Given the description of an element on the screen output the (x, y) to click on. 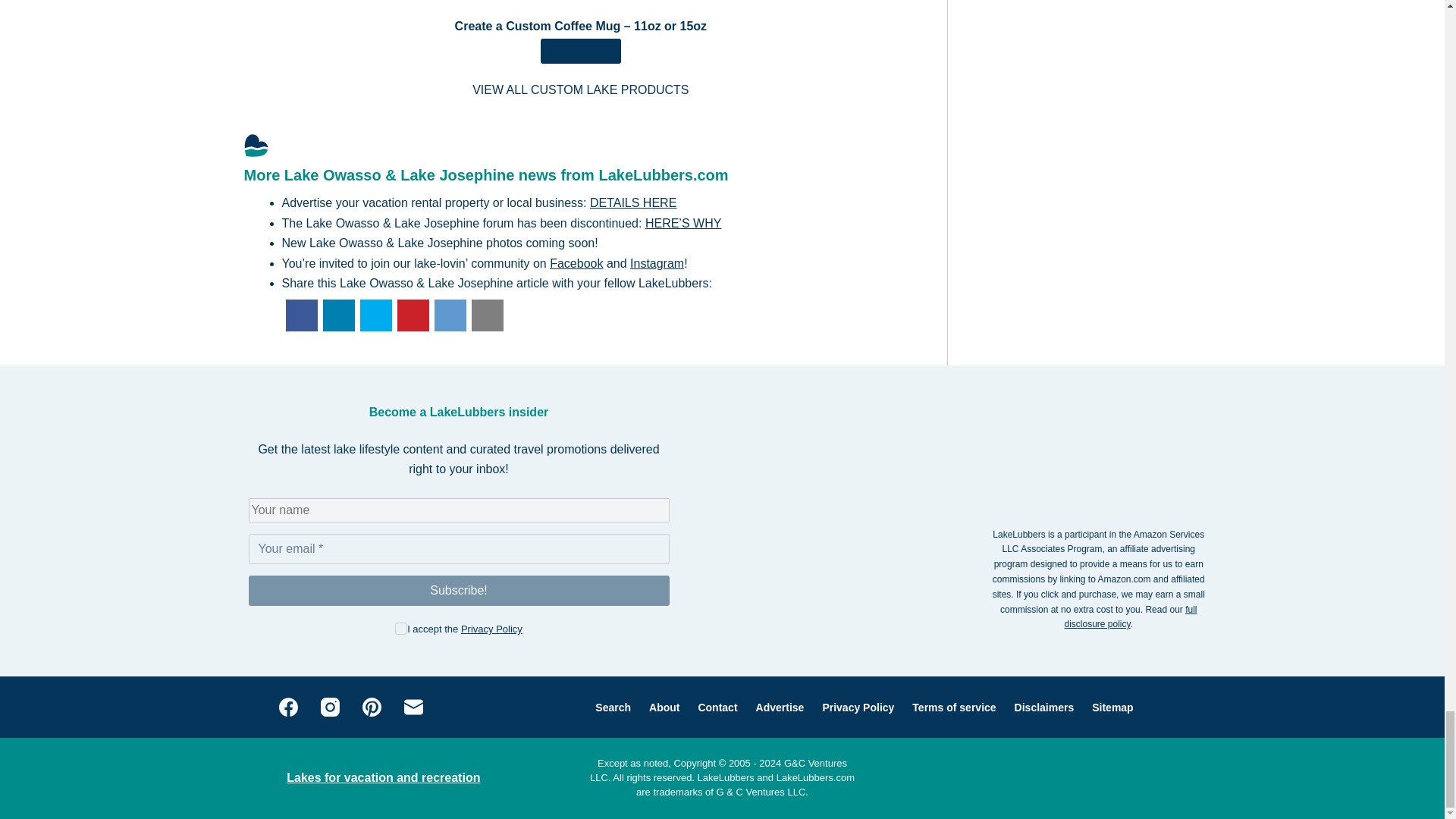
on (400, 628)
Custom Lake Coffee Mug - On Lake Time (580, 50)
Name (458, 509)
Email (458, 548)
Custom Lake Products (579, 89)
